Given the description of an element on the screen output the (x, y) to click on. 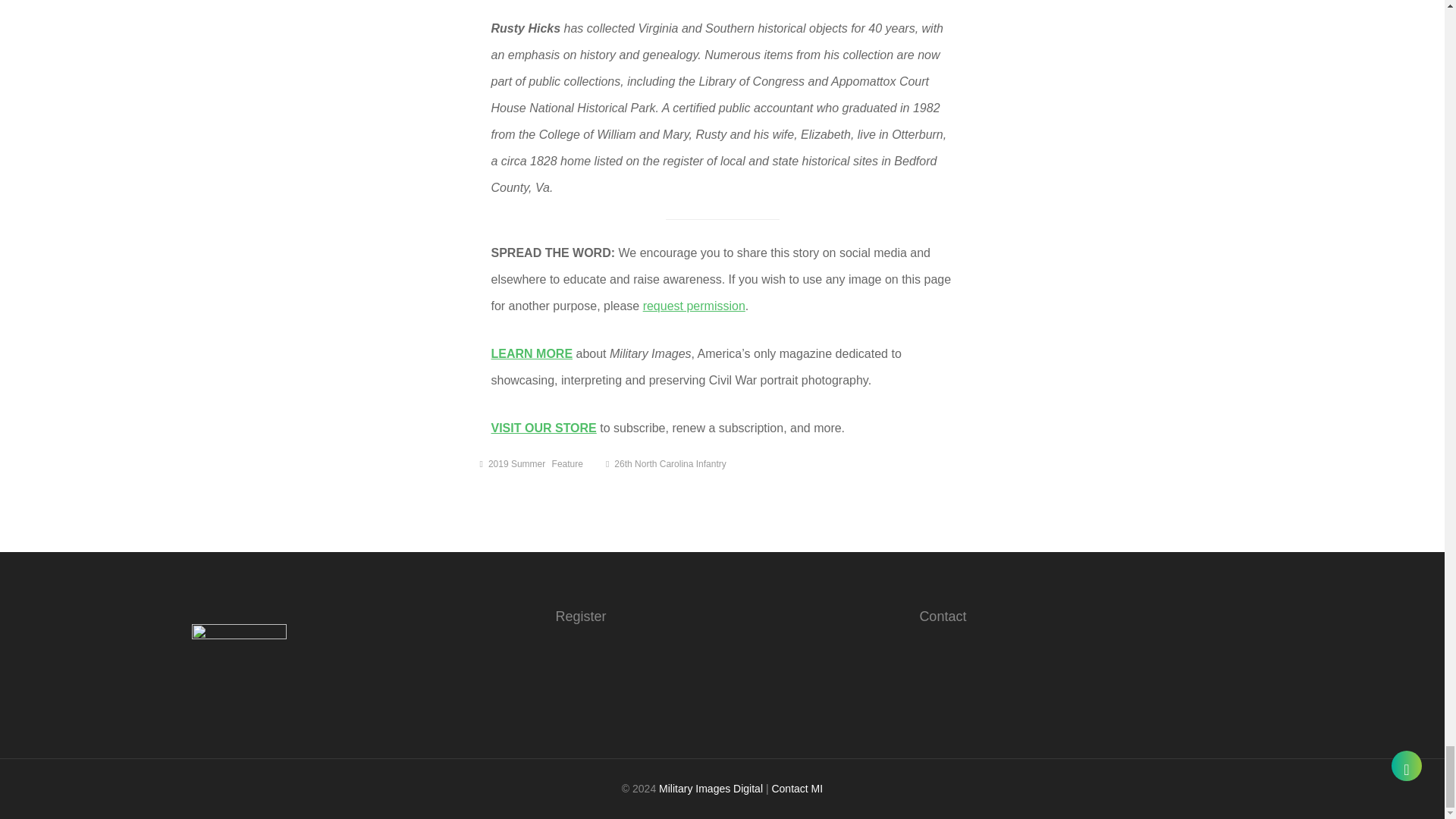
Feature (567, 463)
request permission (694, 305)
Military Images Digital (710, 788)
2019 Summer (515, 463)
Contact MI (796, 788)
Register (579, 616)
26th North Carolina Infantry (669, 463)
Contact (942, 616)
LEARN MORE (532, 353)
VISIT OUR STORE (544, 427)
